Given the description of an element on the screen output the (x, y) to click on. 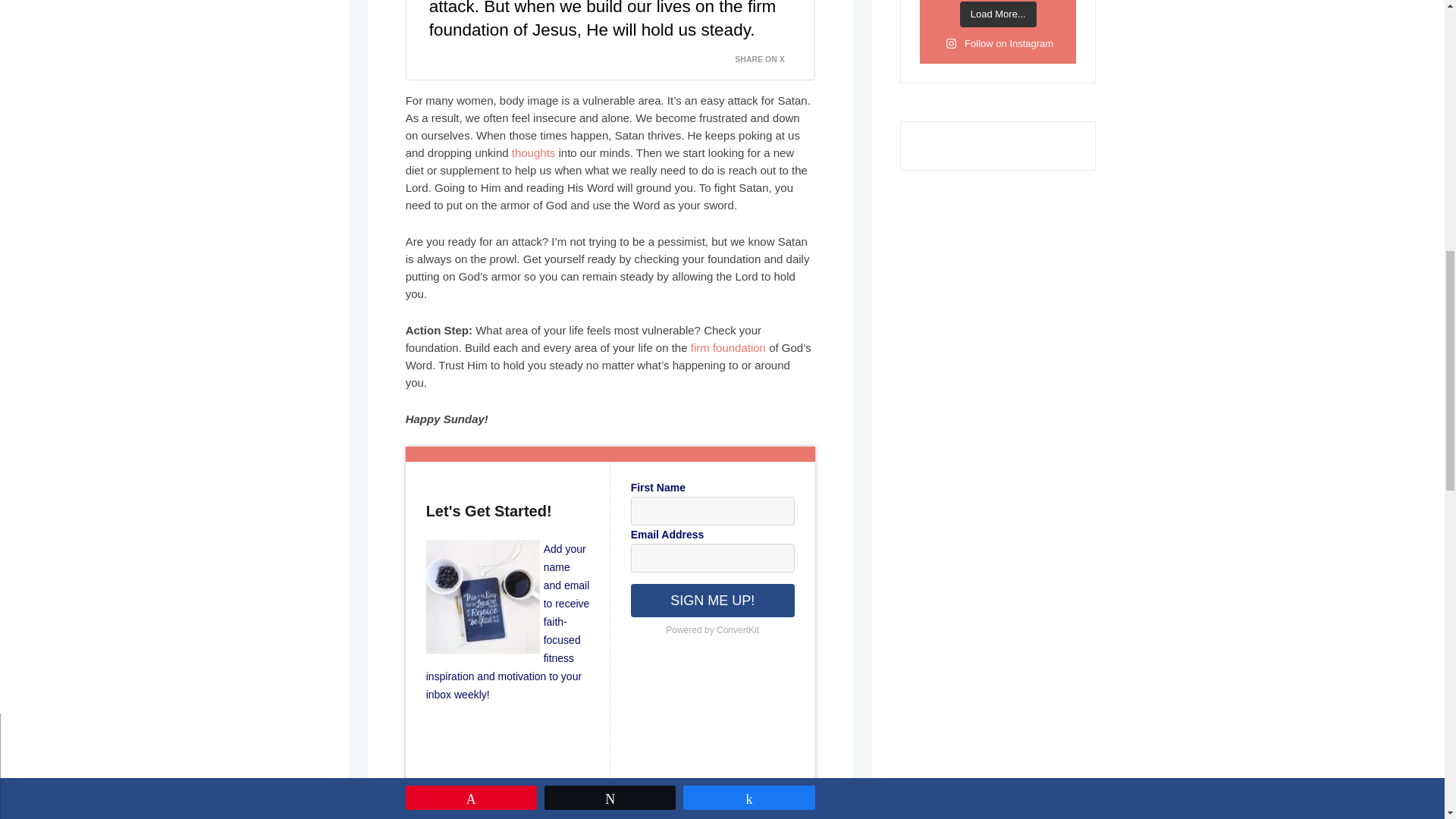
SHARE ON X (768, 54)
Powered by ConvertKit (712, 629)
SIGN ME UP! (712, 600)
firm foundation (727, 347)
thoughts (534, 152)
